Given the description of an element on the screen output the (x, y) to click on. 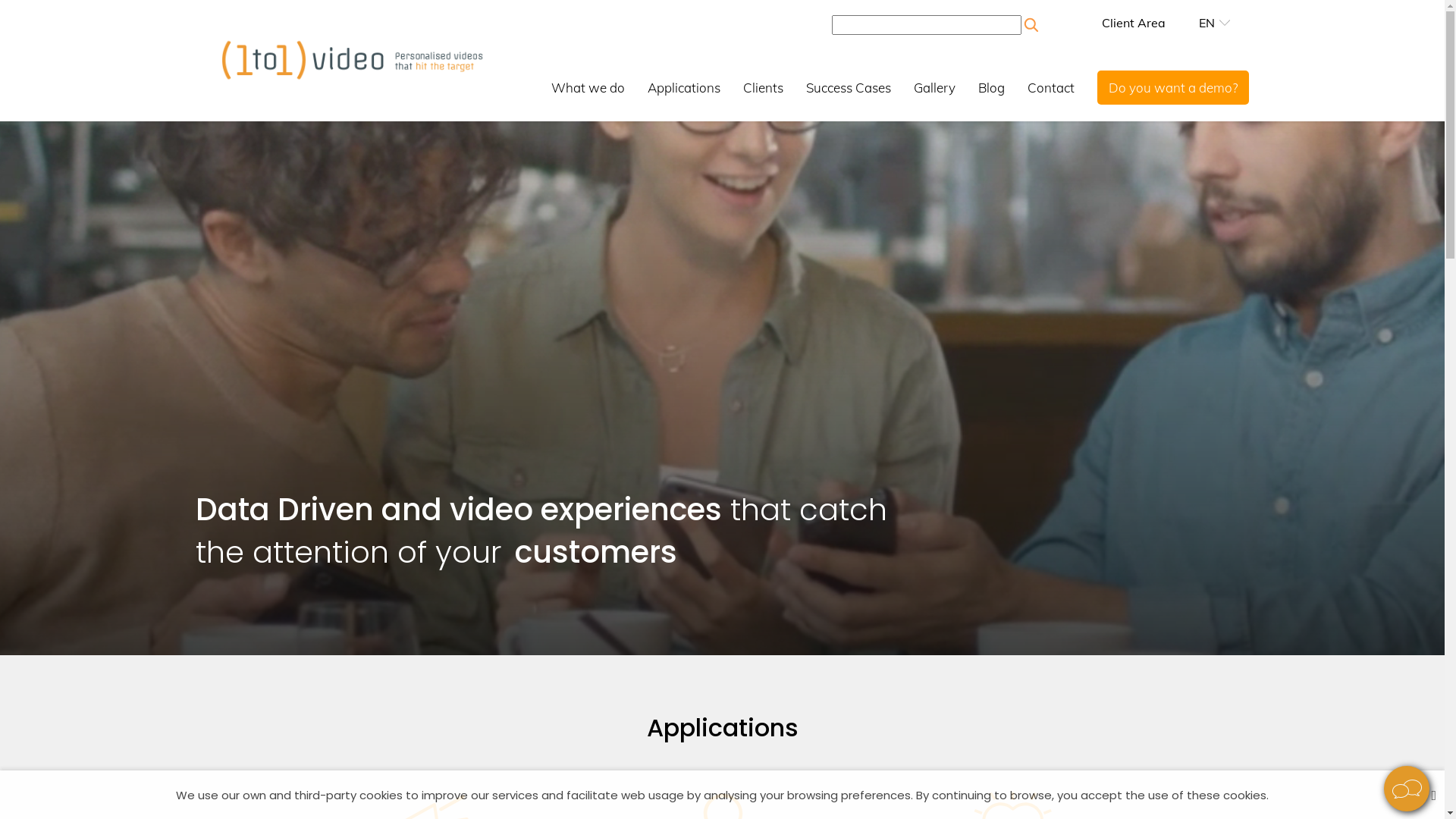
Blog Element type: text (991, 86)
Do you want a demo? Element type: text (1172, 86)
Applications Element type: text (683, 86)
Success Cases Element type: text (848, 86)
Client Area Element type: text (1133, 22)
Clients Element type: text (763, 86)
Contact Element type: text (1050, 86)
Gallery Element type: text (934, 86)
What we do Element type: text (587, 86)
